Given the description of an element on the screen output the (x, y) to click on. 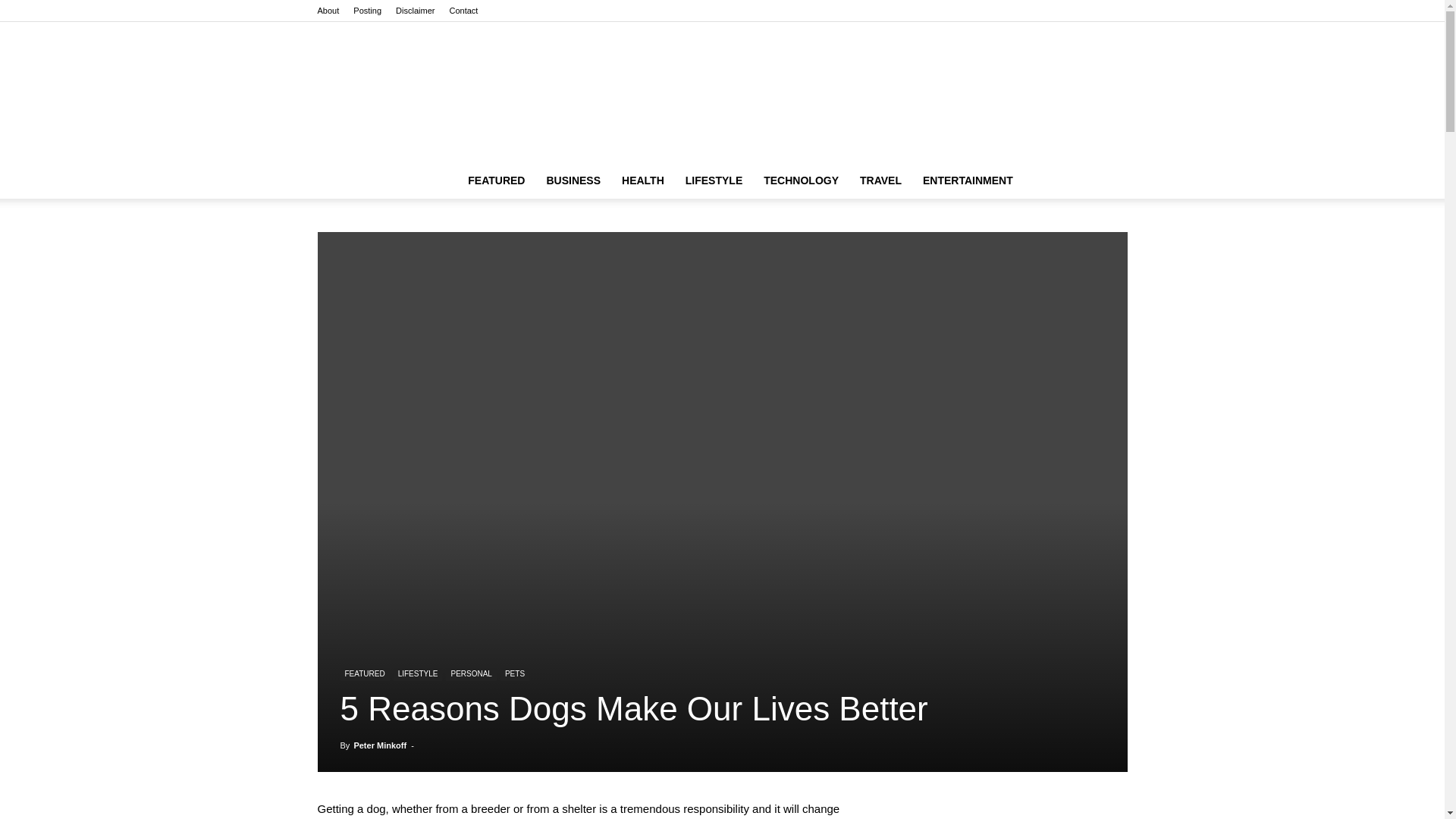
elmenslogo (721, 92)
CATEGORIES (496, 180)
LIFESTYLE (713, 180)
